Given the description of an element on the screen output the (x, y) to click on. 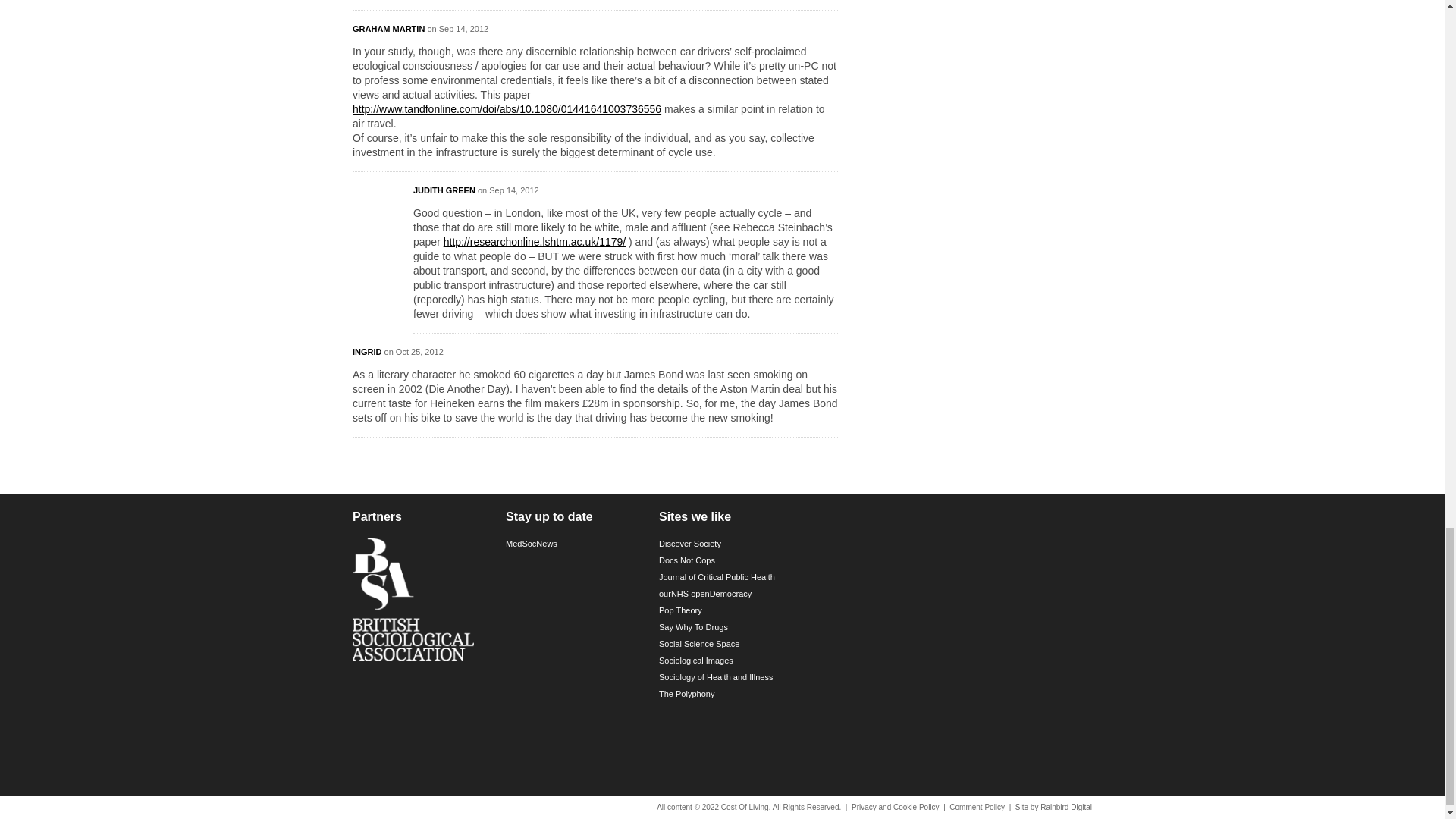
MedSocNews (575, 546)
The British Sociological Association (422, 603)
openDemocracy site on protecting the NHS (728, 596)
Discover Society (728, 546)
Journal of Critical Public Health (728, 579)
